Given the description of an element on the screen output the (x, y) to click on. 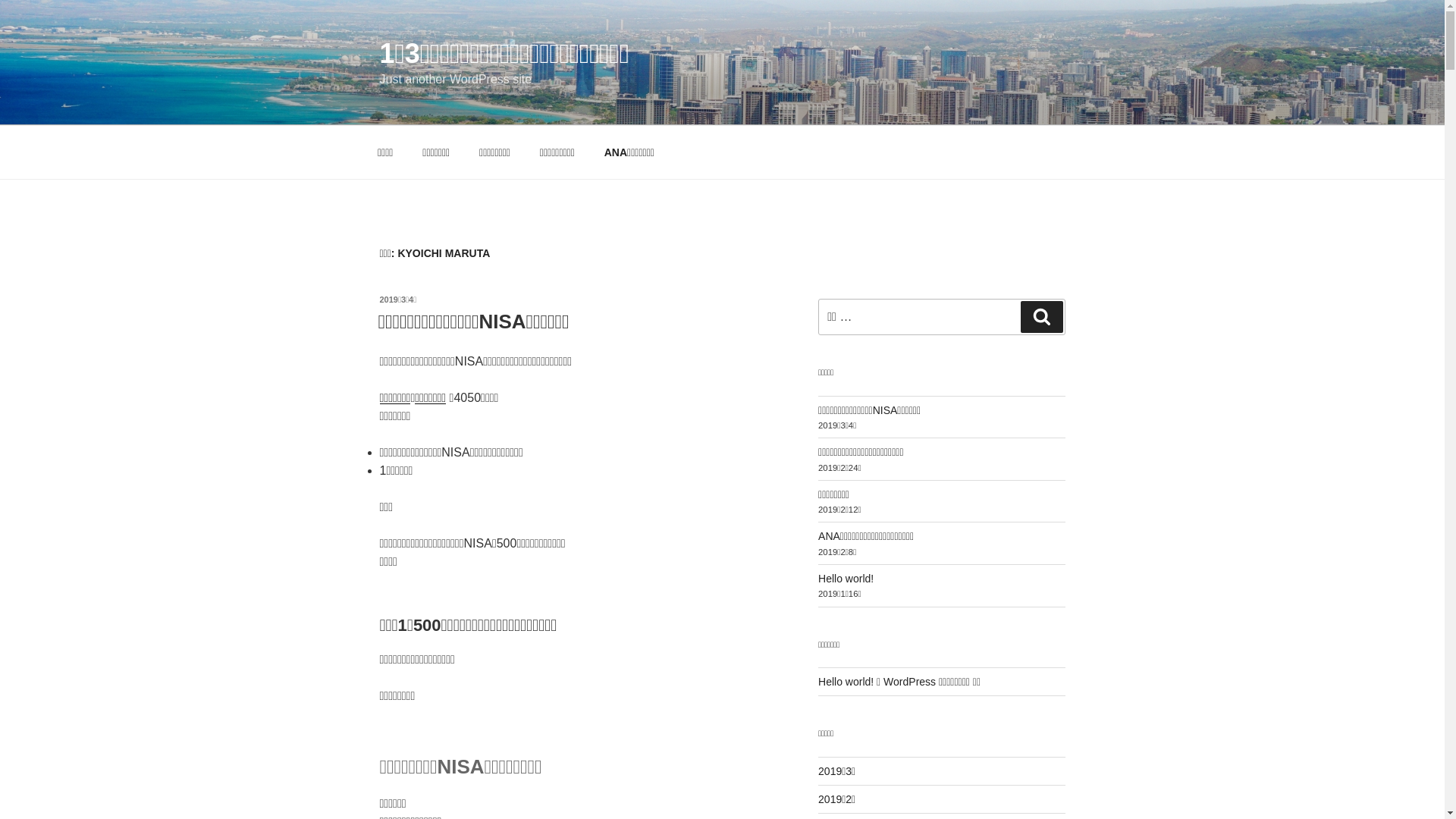
Hello world! Element type: text (845, 681)
Hello world! Element type: text (845, 578)
